Given the description of an element on the screen output the (x, y) to click on. 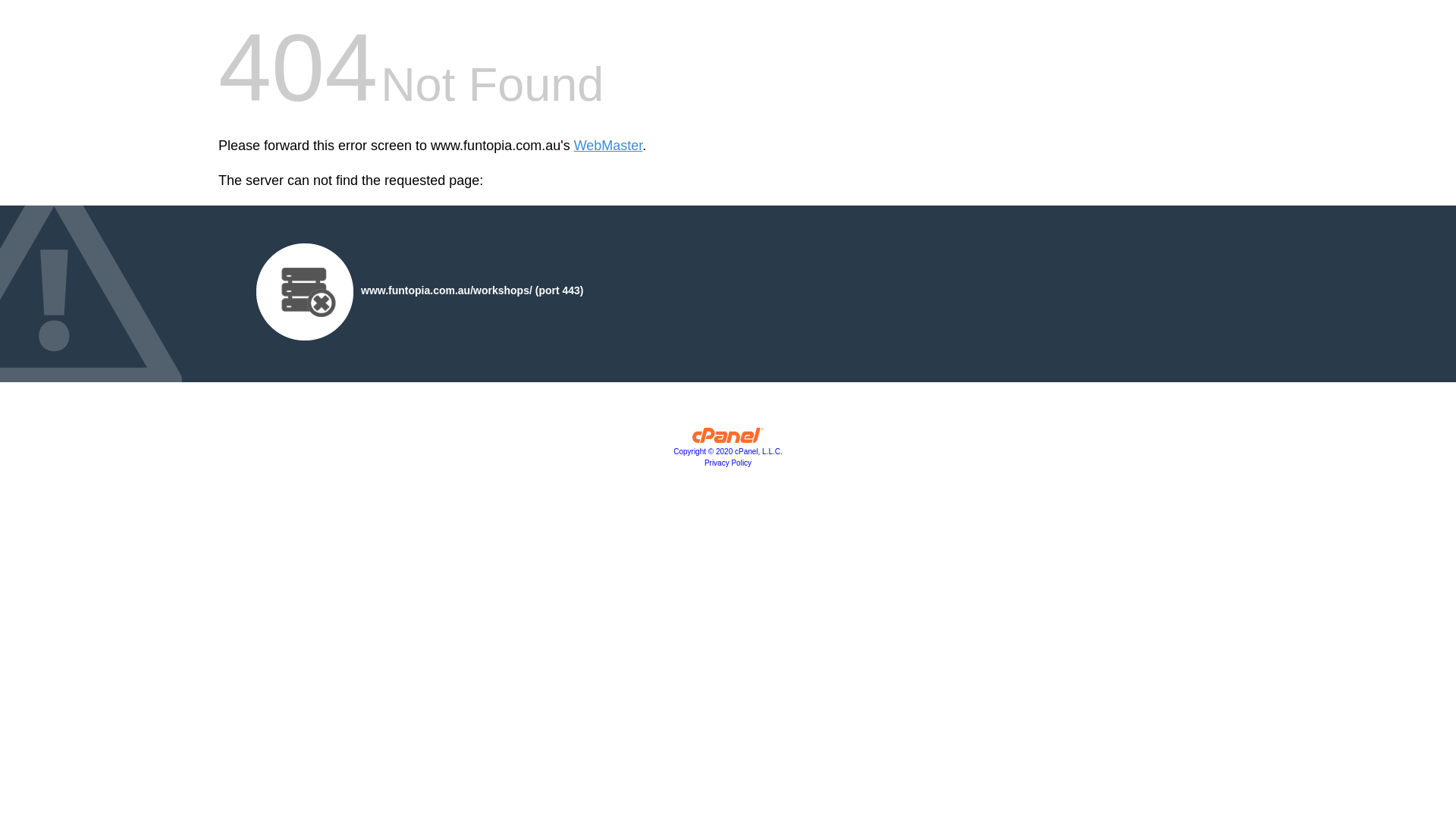
Privacy Policy Element type: text (727, 462)
cPanel, Inc. Element type: hover (728, 439)
WebMaster Element type: text (608, 145)
